Given the description of an element on the screen output the (x, y) to click on. 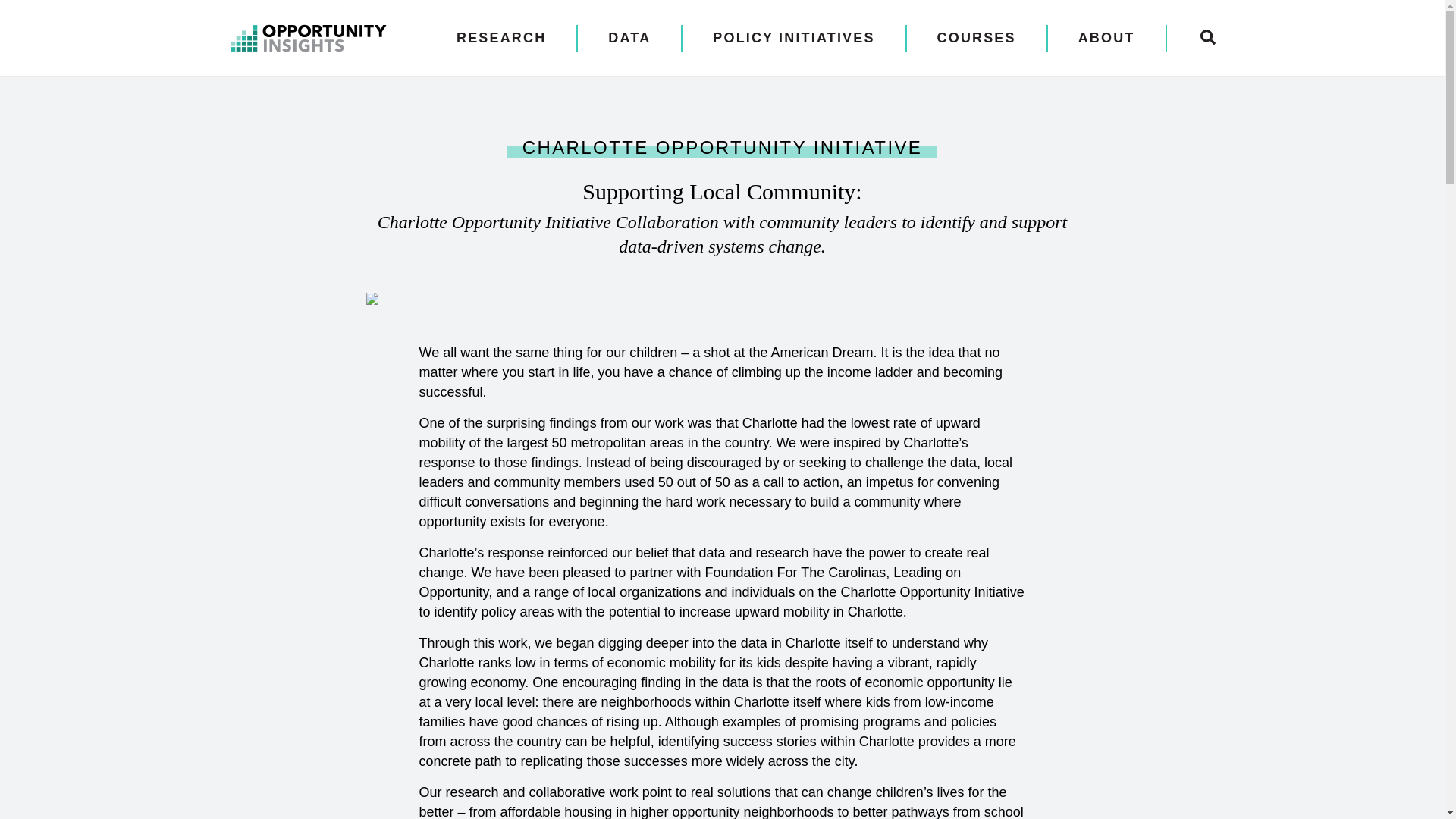
POLICY INITIATIVES (793, 38)
RESEARCH (501, 38)
ABOUT (1107, 38)
COURSES (976, 38)
DATA (629, 38)
